Given the description of an element on the screen output the (x, y) to click on. 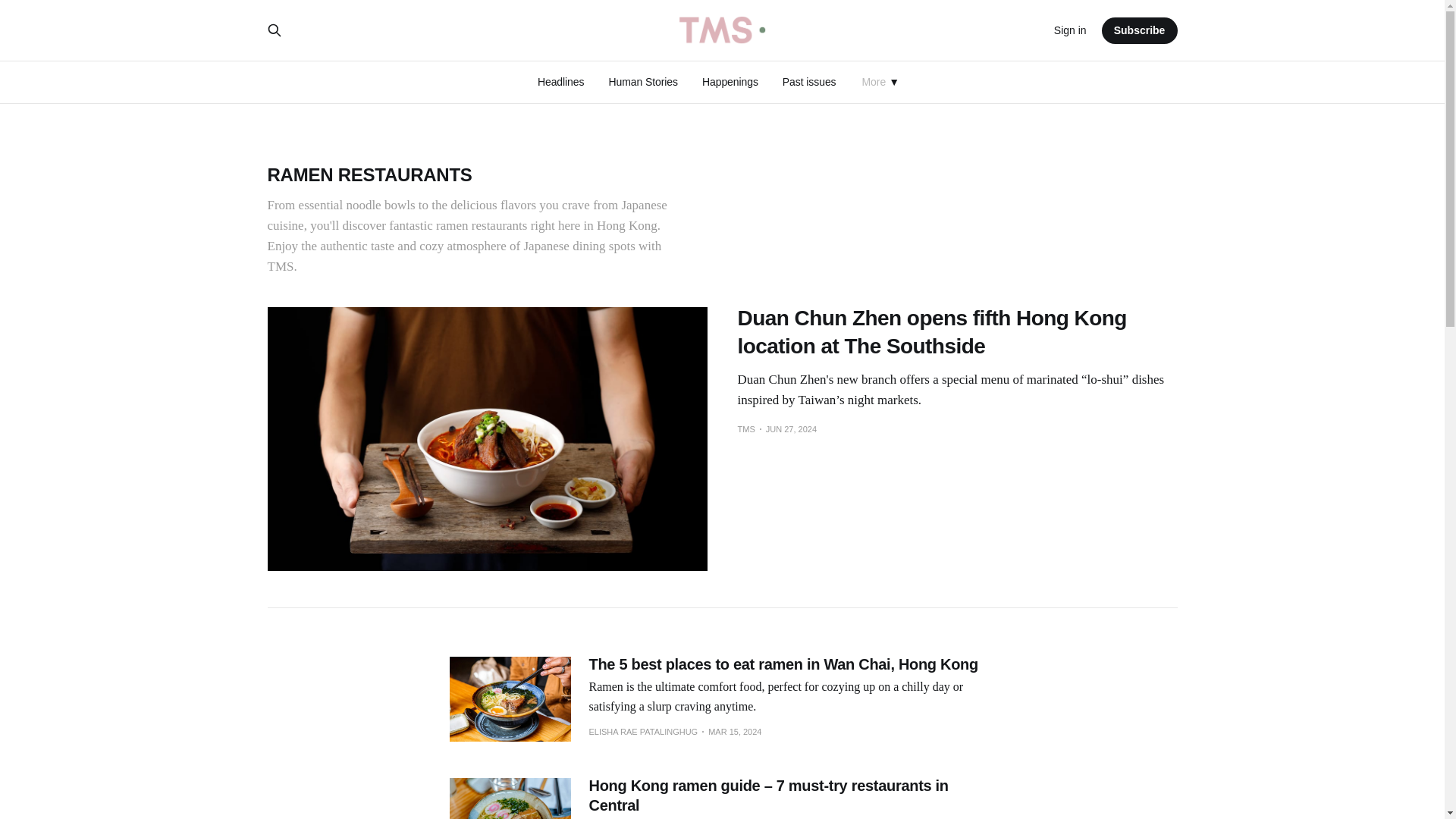
Past issues (809, 81)
Happenings (729, 81)
Human Stories (643, 81)
Headlines (561, 81)
